Given the description of an element on the screen output the (x, y) to click on. 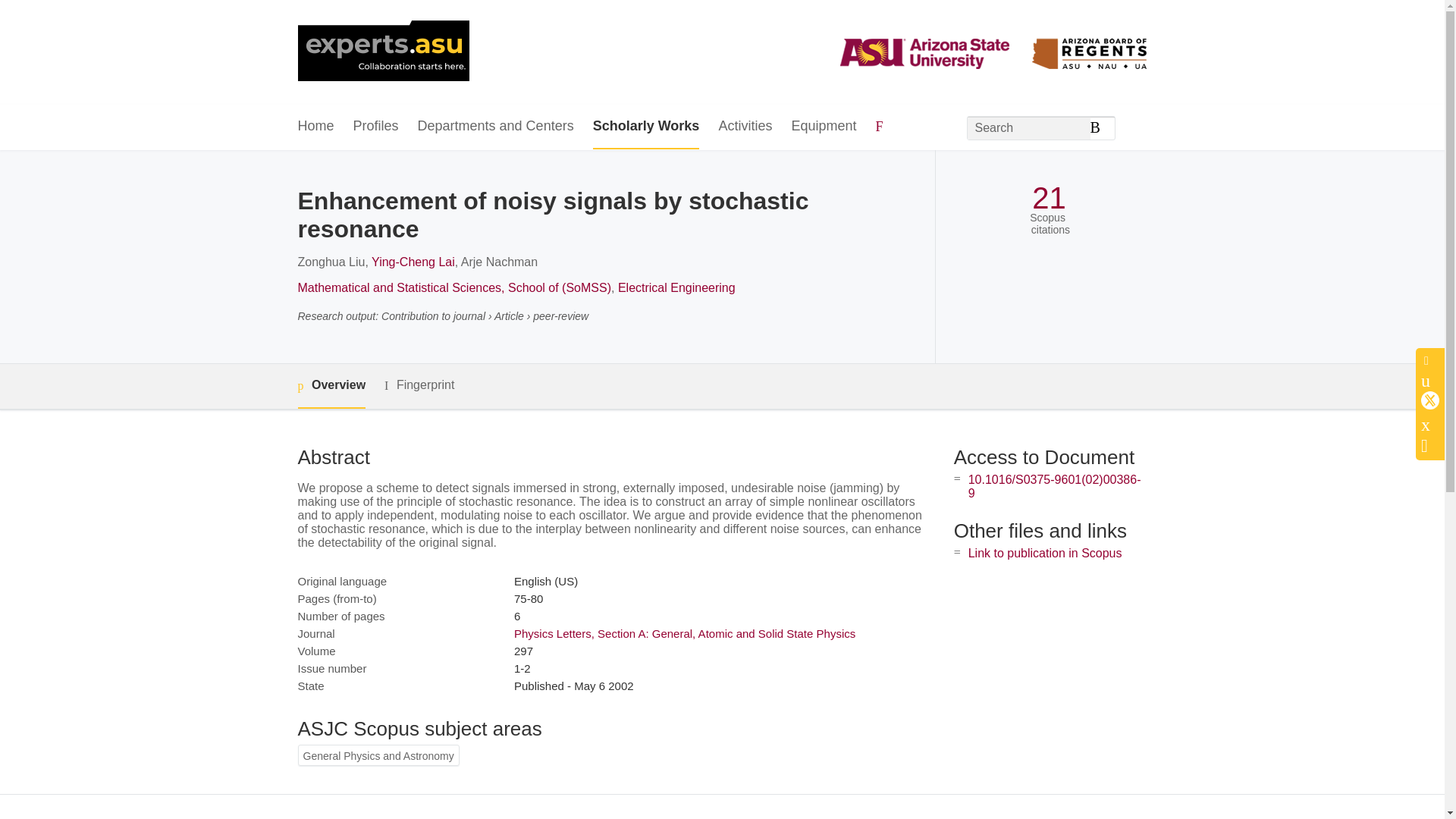
Activities (744, 126)
Equipment (823, 126)
Ying-Cheng Lai (412, 261)
Electrical Engineering (676, 287)
Link to publication in Scopus (1045, 553)
Arizona State University Home (382, 52)
Overview (331, 385)
Departments and Centers (495, 126)
21 (1048, 198)
Profiles (375, 126)
Scholarly Works (646, 126)
Fingerprint (419, 385)
